Given the description of an element on the screen output the (x, y) to click on. 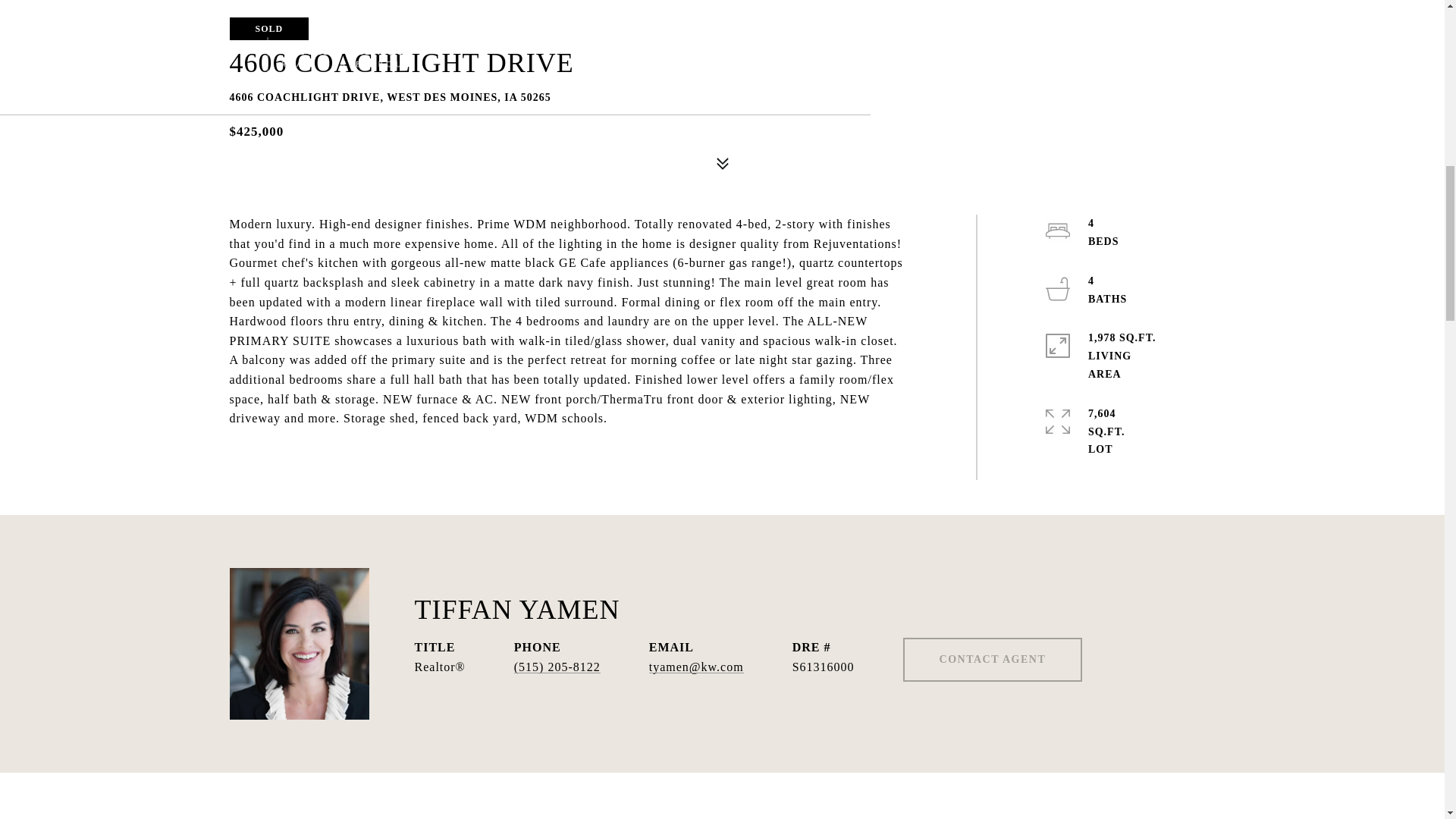
CONTACT AGENT (992, 659)
